Given the description of an element on the screen output the (x, y) to click on. 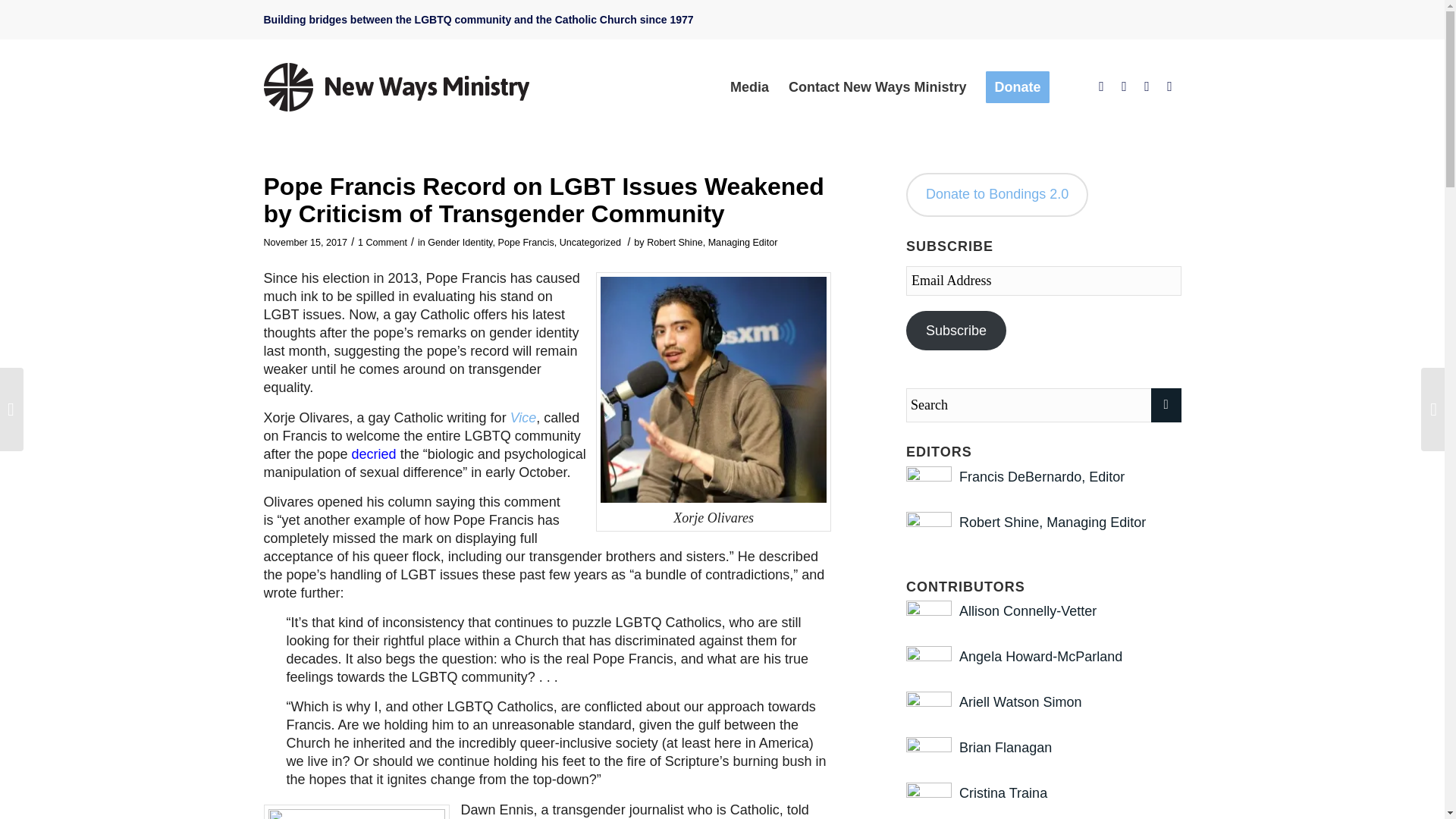
Posts by Robert Shine, Managing Editor (711, 242)
Vice (524, 417)
1 Comment (382, 242)
Facebook (1101, 86)
Uncategorized (590, 242)
Instagram (1146, 86)
Gender Identity (460, 242)
Posts by Francis DeBernardo, Editor (1041, 476)
Mail (1169, 86)
Pope Francis (525, 242)
